Given the description of an element on the screen output the (x, y) to click on. 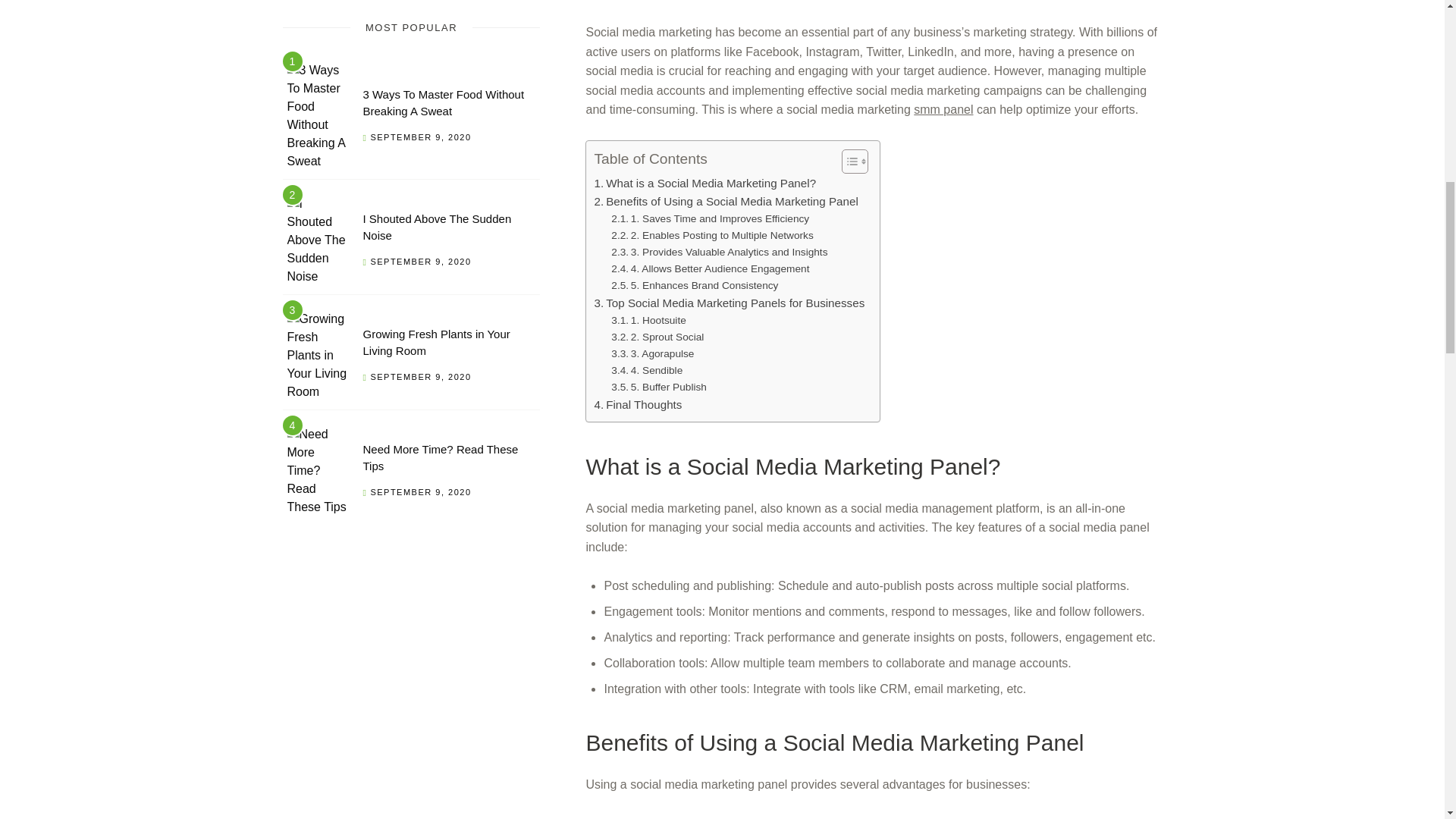
Growing Fresh Plants in Your Living Room (435, 342)
SEPTEMBER 9, 2020 (419, 136)
4. Sendible (646, 370)
Top Social Media Marketing Panels for Businesses (729, 303)
Final Thoughts (637, 404)
5. Enhances Brand Consistency (694, 285)
4. Sendible (646, 370)
Benefits of Using a Social Media Marketing Panel (725, 201)
SEPTEMBER 9, 2020 (419, 261)
3. Agorapulse (652, 353)
